Given the description of an element on the screen output the (x, y) to click on. 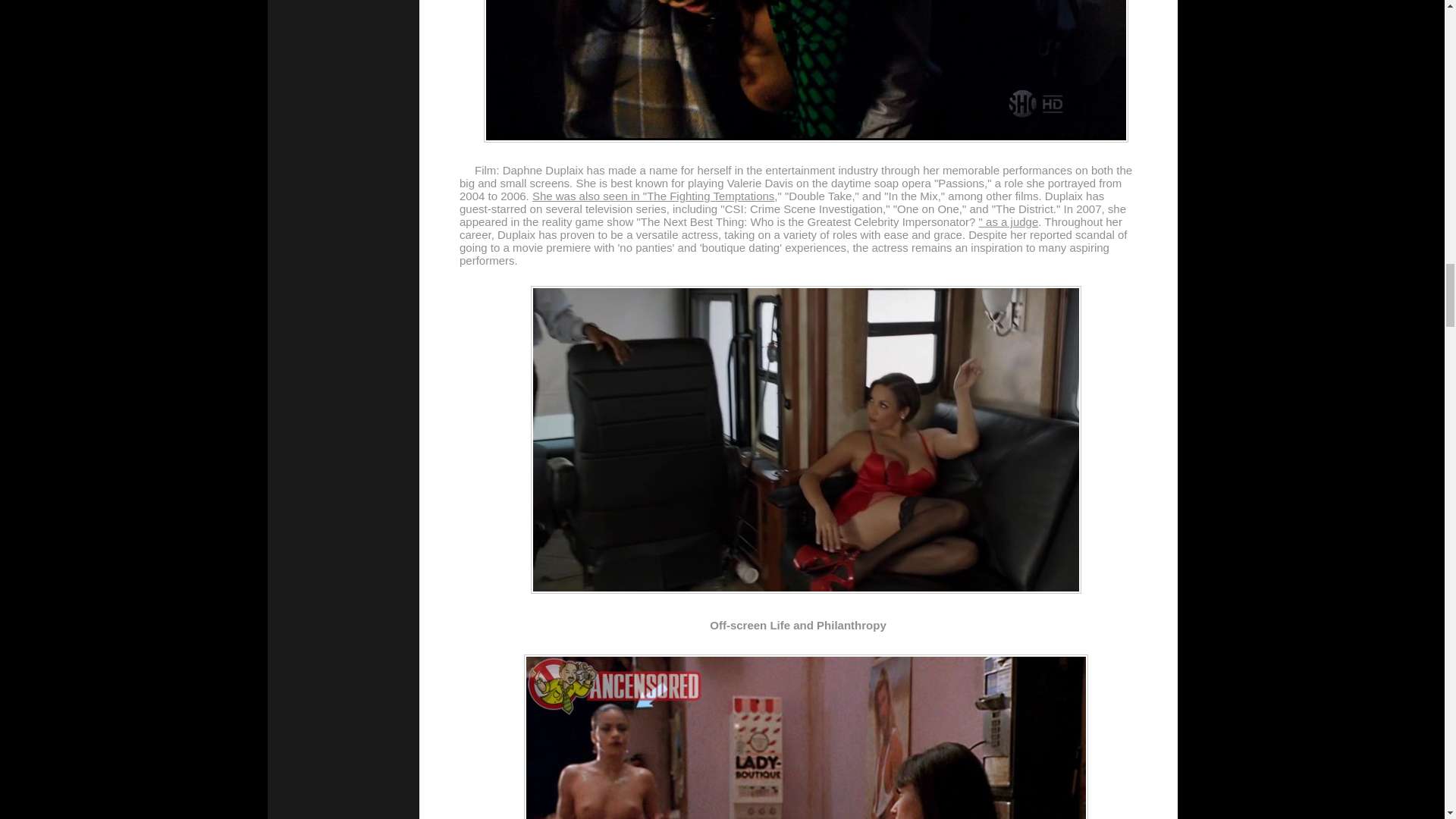
Daphne Duplaix no panties (805, 71)
Daphne Duplaix in a short skirt breasts (804, 736)
